Given the description of an element on the screen output the (x, y) to click on. 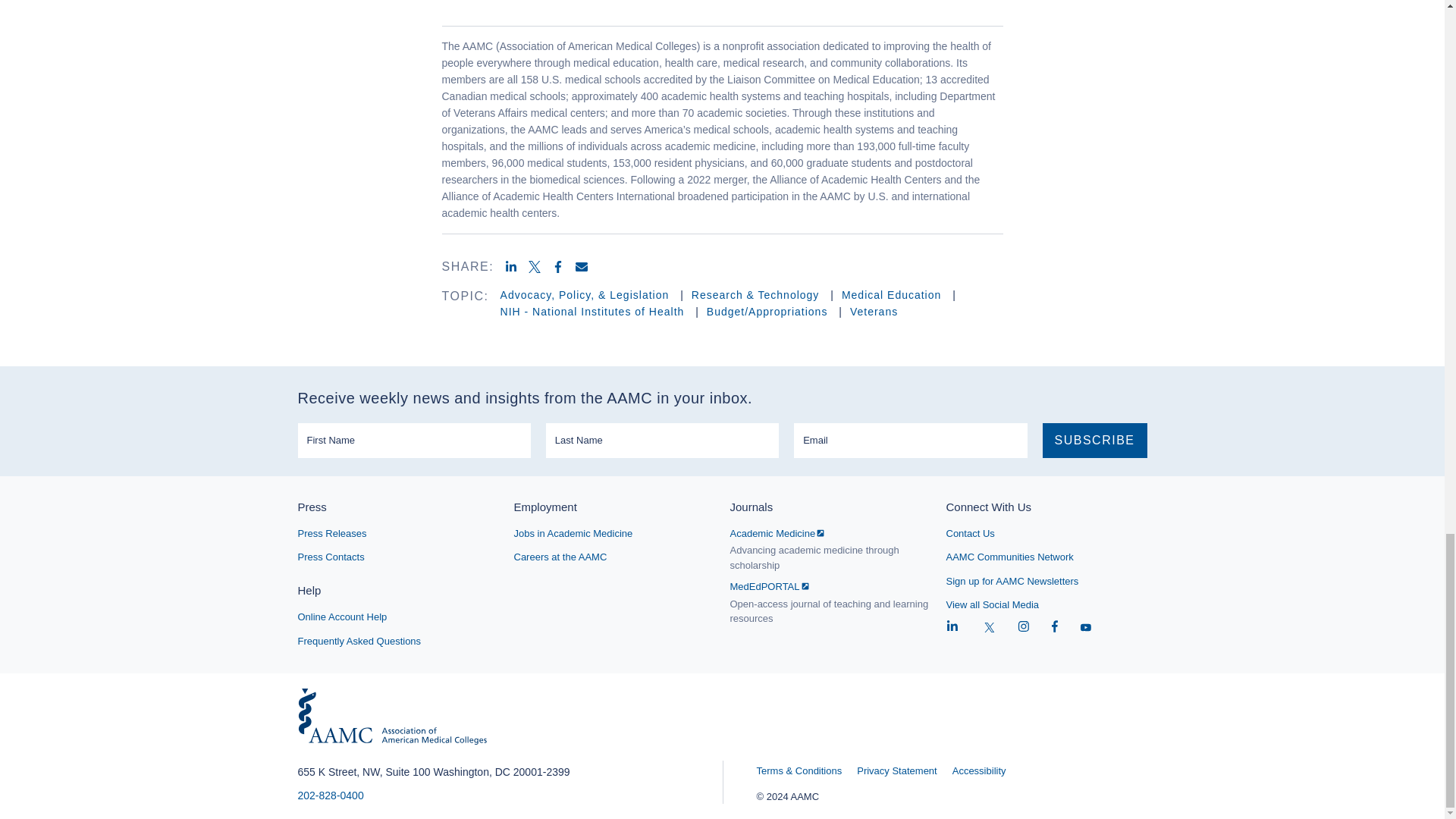
X (989, 627)
Last Name: (662, 440)
Email (586, 266)
First Name: (413, 440)
instagram (1023, 627)
Email: (909, 440)
Subscribe (1094, 440)
linkedin (952, 627)
NIH - National Institutes of Health (594, 311)
Medical Education (892, 295)
Linkedin (516, 266)
Veterans (874, 311)
X (539, 266)
Facebook (563, 266)
